Given the description of an element on the screen output the (x, y) to click on. 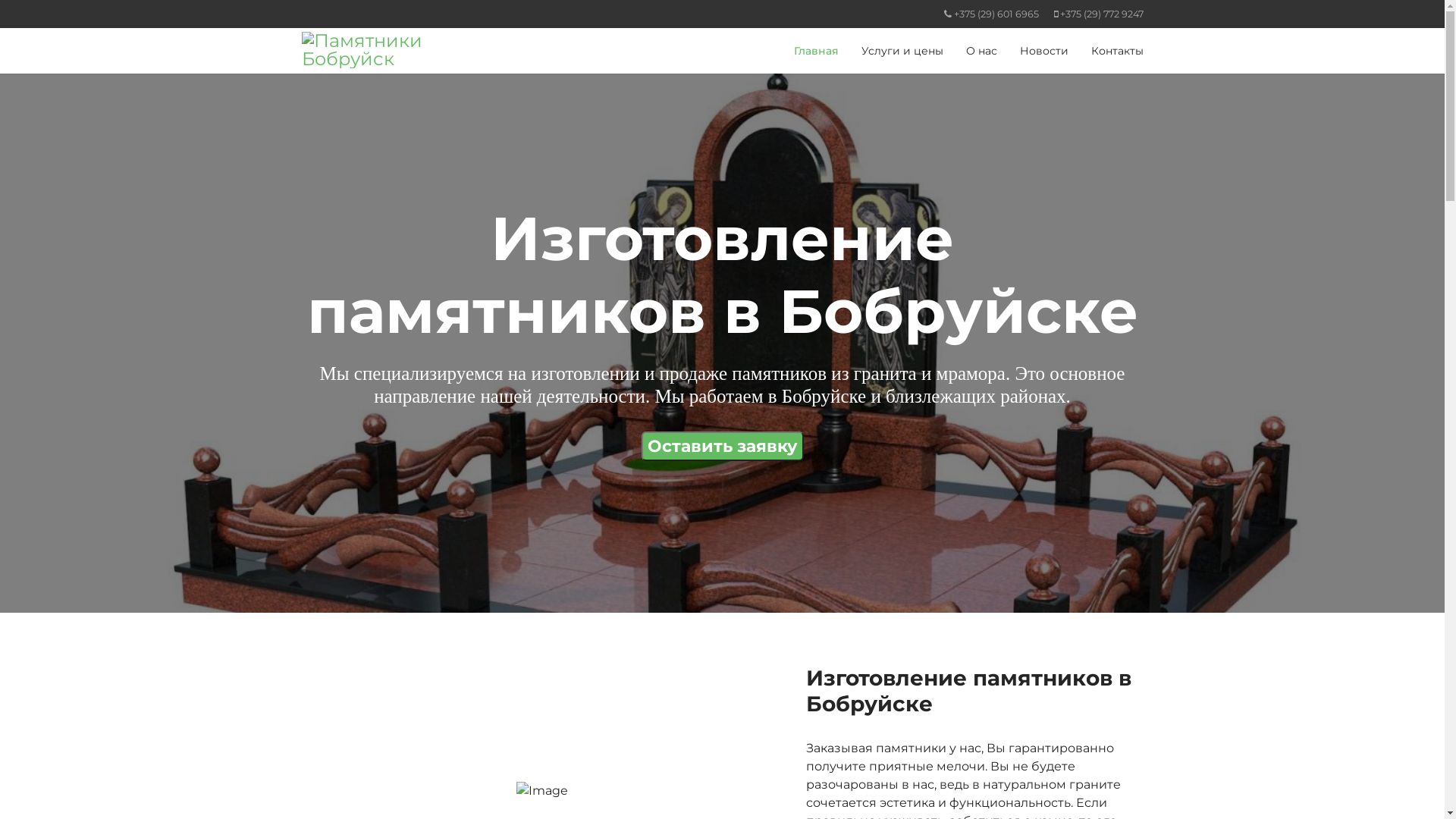
+375 (29) 601 6965 Element type: text (995, 13)
+375 (29) 772 9247 Element type: text (1101, 13)
